Given the description of an element on the screen output the (x, y) to click on. 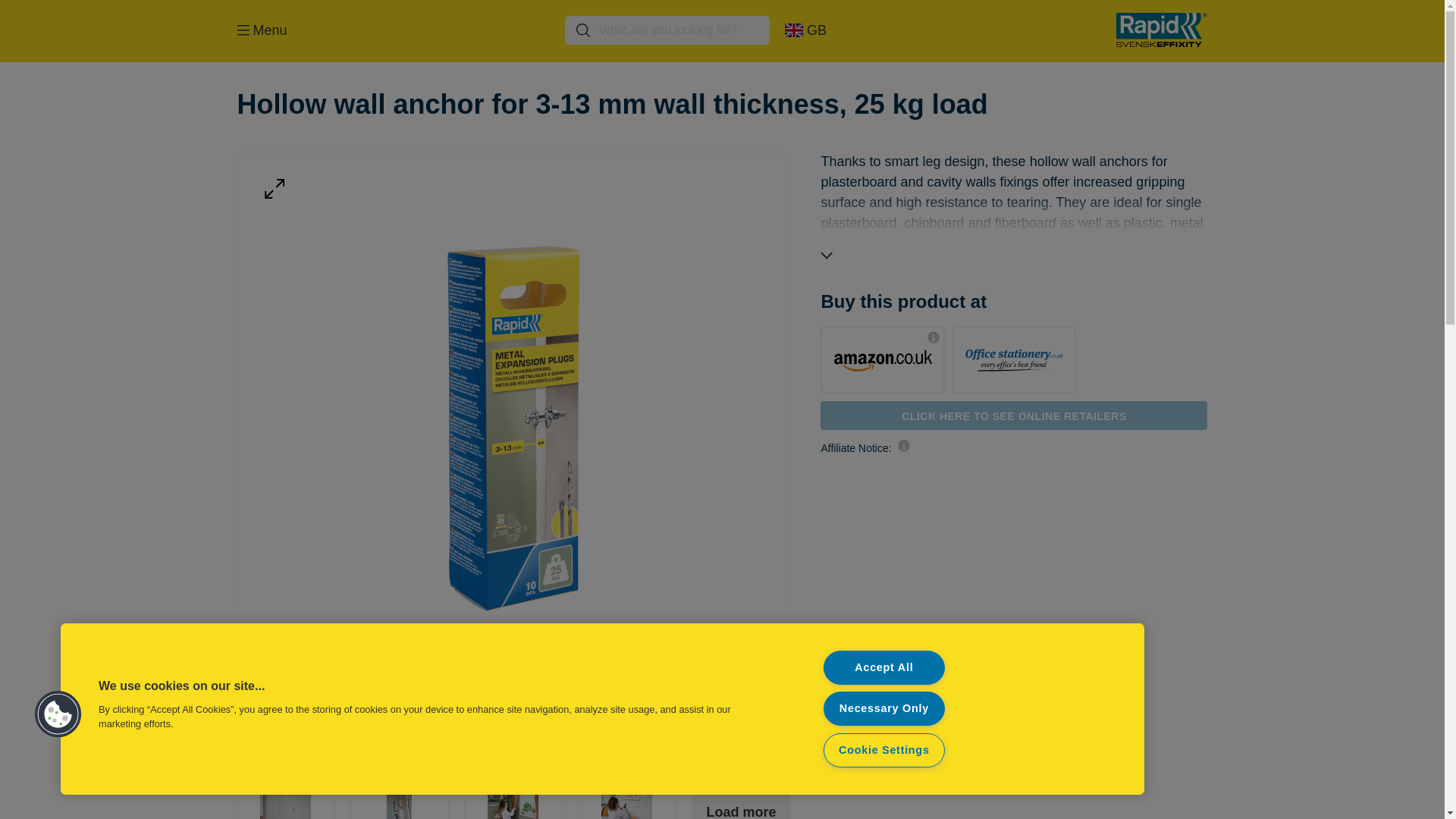
Menu (260, 29)
GB (811, 29)
Cookies Button (57, 714)
